Given the description of an element on the screen output the (x, y) to click on. 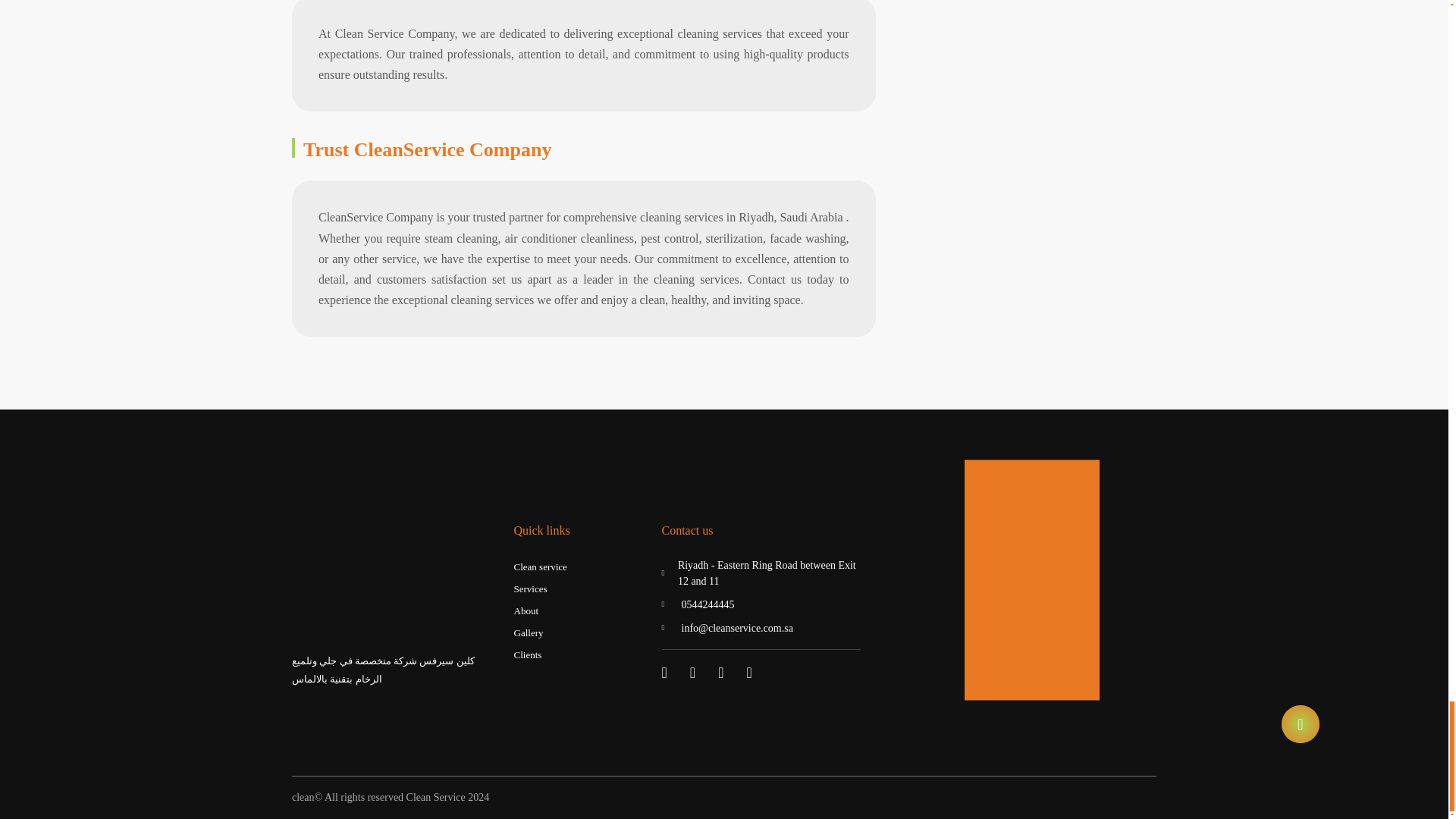
Clean service (540, 566)
Gallery (528, 632)
Riyadh - Eastern Ring Road between Exit 12 and 11 (760, 572)
Services (530, 589)
Clients (527, 654)
0544244445 (760, 604)
About (525, 611)
